Given the description of an element on the screen output the (x, y) to click on. 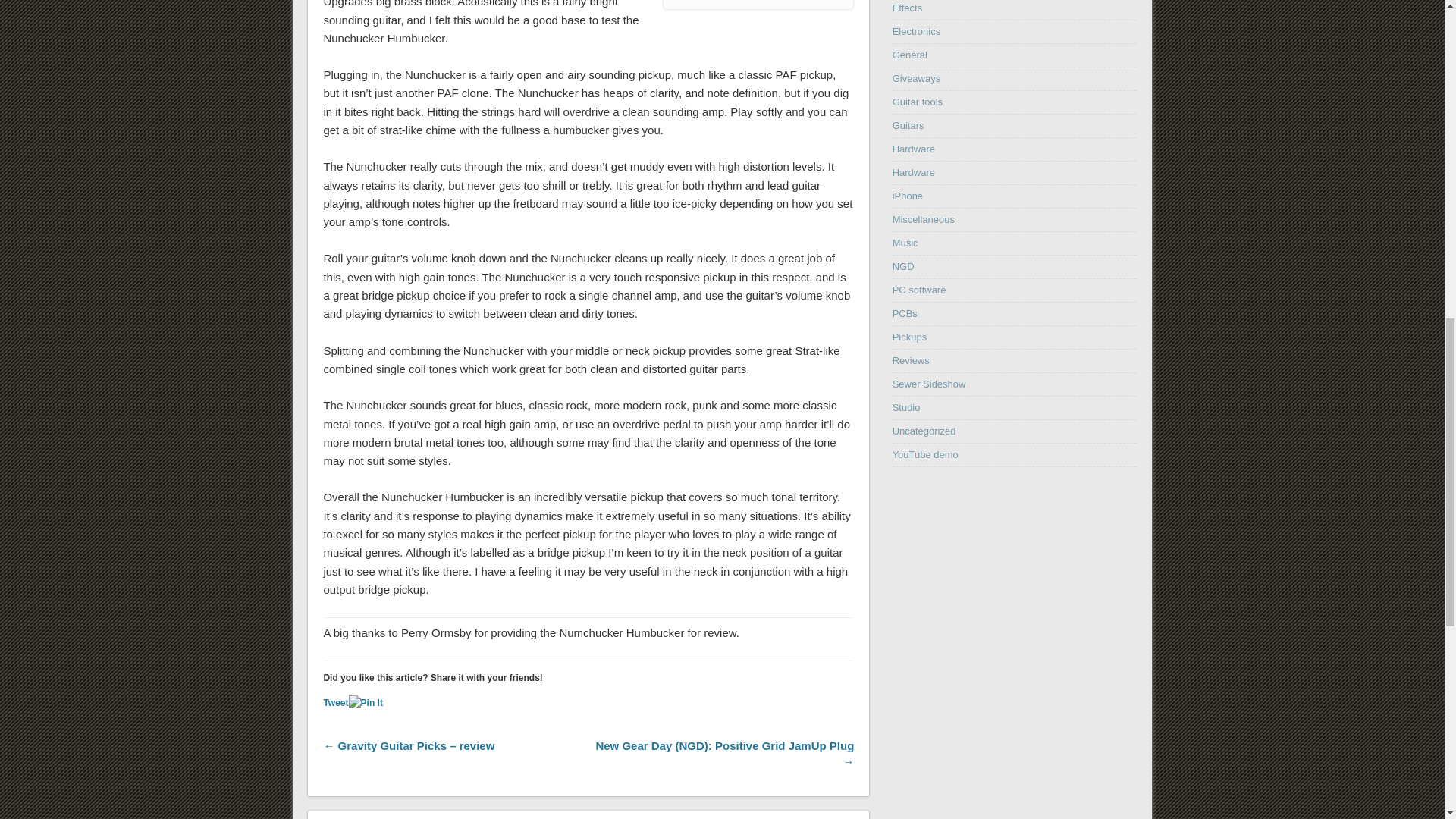
Pin It (365, 703)
Tweet (335, 702)
